Given the description of an element on the screen output the (x, y) to click on. 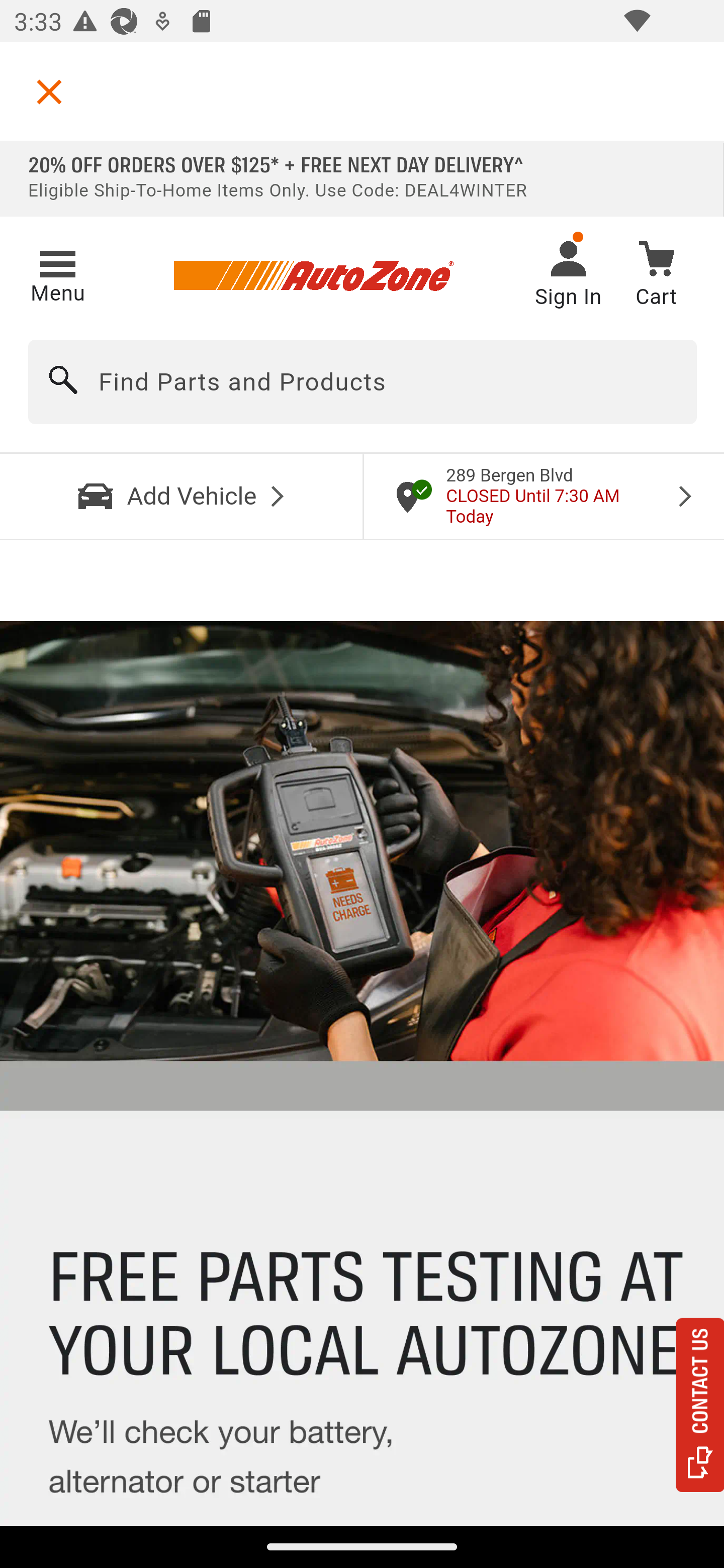
 (49, 91)
Menu (57, 273)
Sign In (567, 276)
AutoZone Logo (links to homepage) (312, 276)
shopping cart 0 items (655, 277)
Search (63, 382)
Add Vehicle (182, 495)
Contact Us (699, 1404)
